Given the description of an element on the screen output the (x, y) to click on. 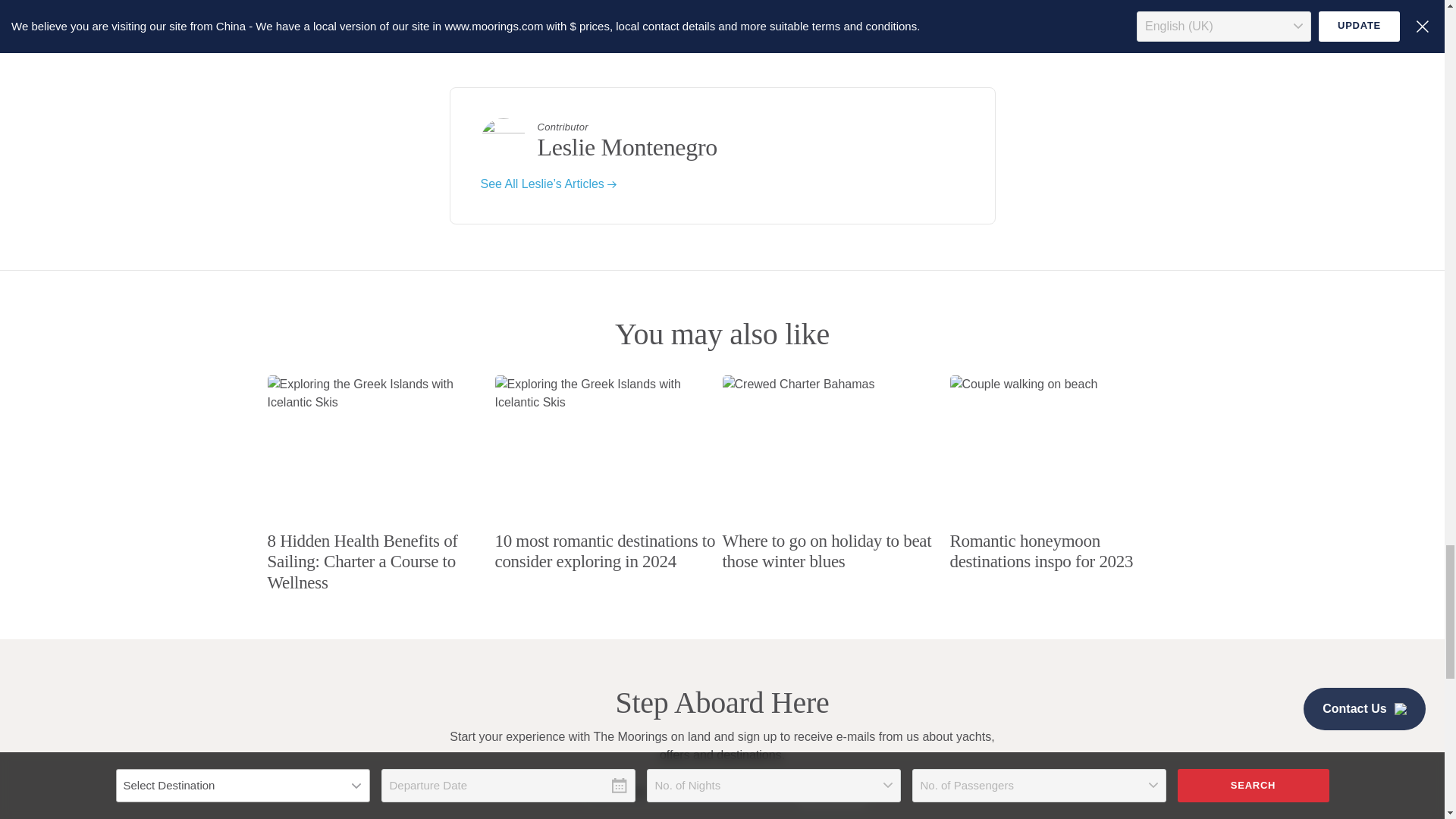
Share by Email (615, 33)
Share on WhatsApp (582, 33)
Share on Twitter (520, 33)
Share on Twitter (551, 32)
